Given the description of an element on the screen output the (x, y) to click on. 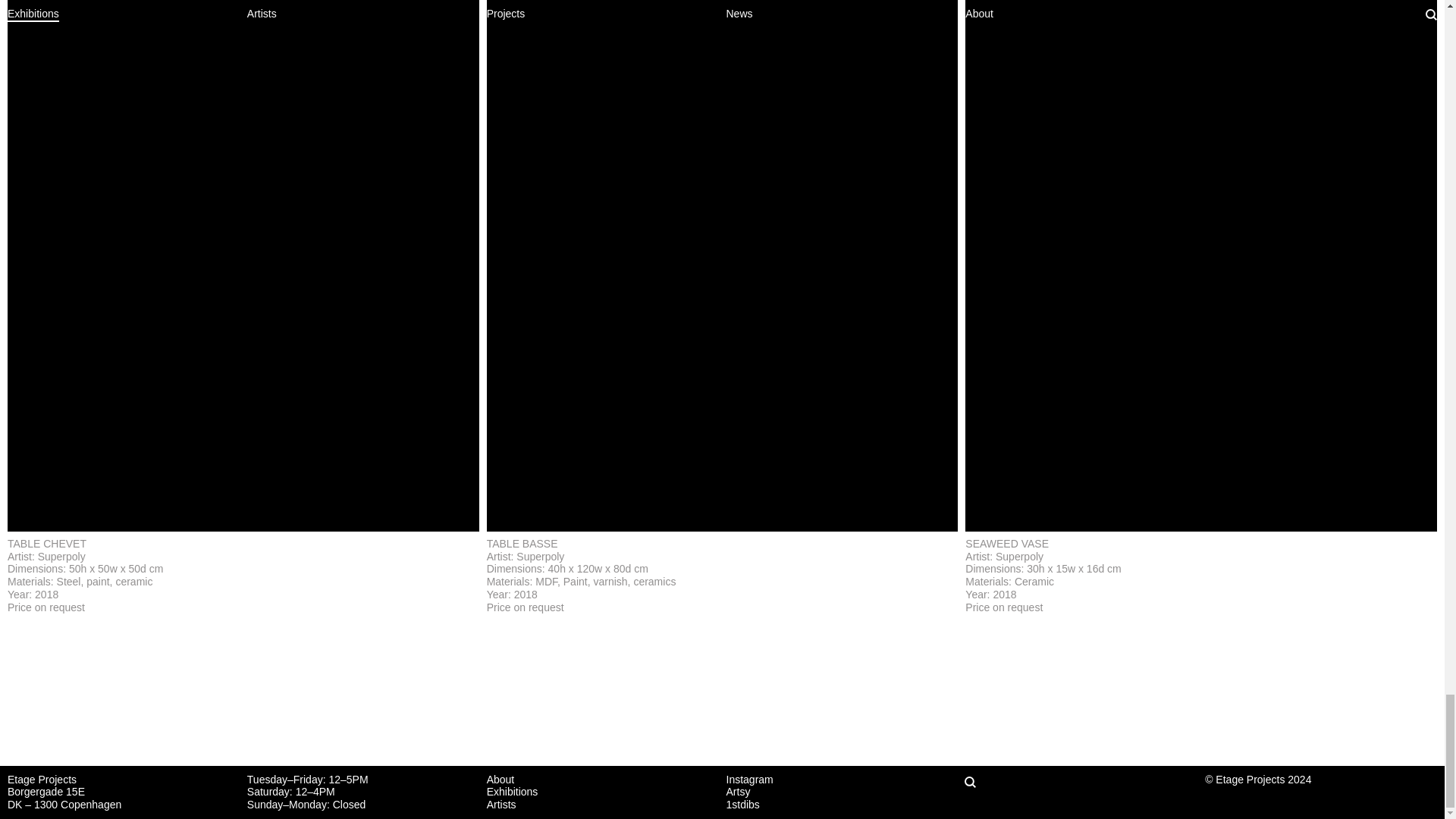
Artsy (738, 791)
Artists (501, 804)
Exhibitions (512, 791)
Instagram (749, 779)
About (500, 779)
1stdibs (743, 804)
